Given the description of an element on the screen output the (x, y) to click on. 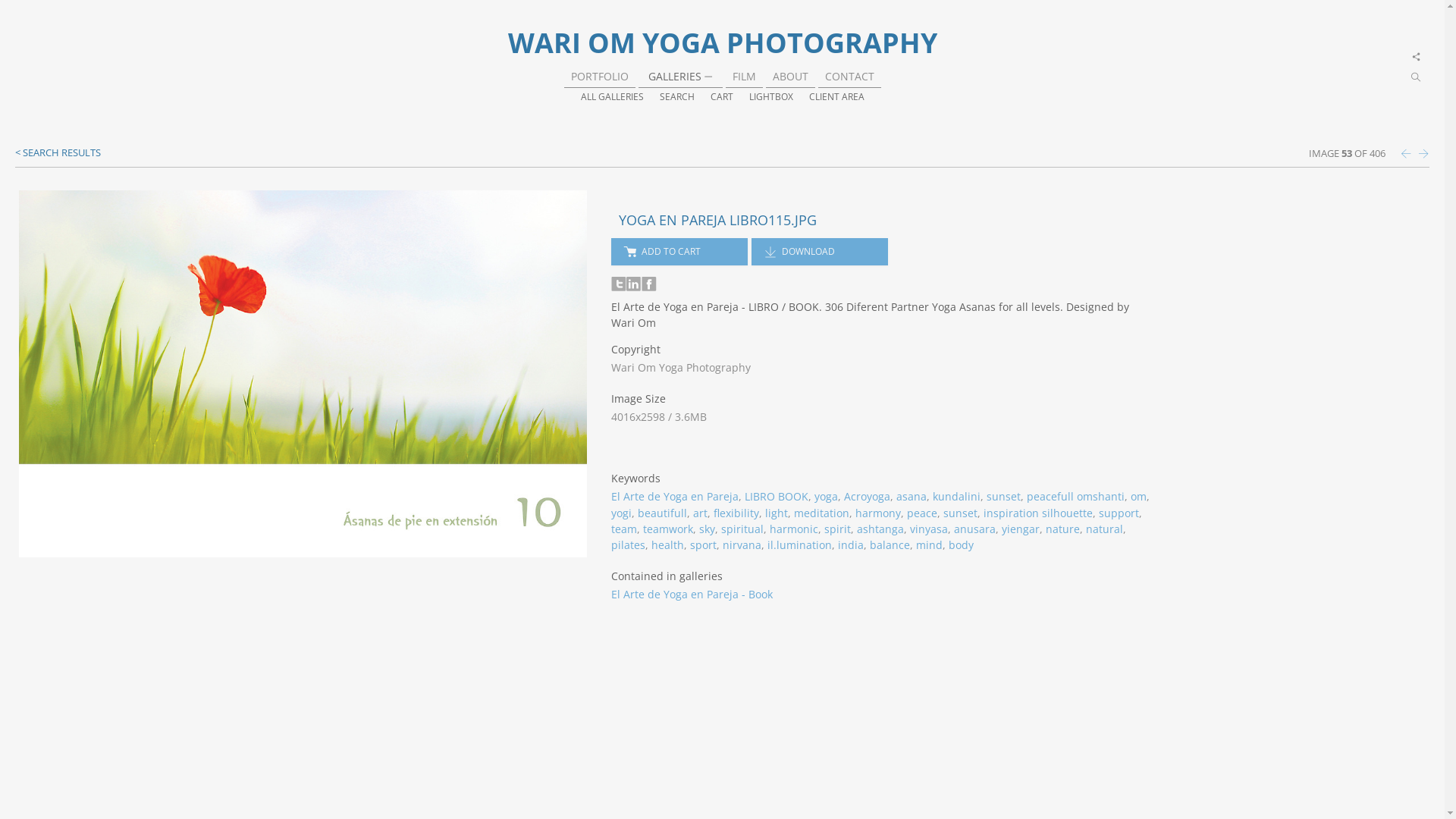
light Element type: text (776, 512)
health Element type: text (667, 544)
pilates Element type: text (628, 544)
beautifull Element type: text (662, 512)
ALL GALLERIES Element type: text (611, 96)
vinyasa Element type: text (928, 528)
El Arte de Yoga en Pareja Element type: text (674, 496)
om Element type: text (1138, 496)
SEARCH RESULTS Element type: text (57, 152)
yiengar Element type: text (1020, 528)
peace Element type: text (921, 512)
sky Element type: text (707, 528)
spirit Element type: text (837, 528)
support Element type: text (1118, 512)
ABOUT Element type: text (789, 76)
team Element type: text (624, 528)
balance Element type: text (889, 544)
CLIENT AREA Element type: text (835, 96)
DOWNLOAD Element type: text (819, 251)
natural Element type: text (1104, 528)
FILM Element type: text (744, 76)
body Element type: text (960, 544)
WARI OM YOGA PHOTOGRAPHY Element type: text (722, 42)
il.lumination Element type: text (799, 544)
yoga Element type: text (825, 496)
CONTACT Element type: text (849, 76)
spiritual Element type: text (742, 528)
PORTFOLIO Element type: text (598, 76)
harmonic Element type: text (793, 528)
x Element type: text (1416, 57)
mind Element type: text (929, 544)
yogi Element type: text (621, 512)
harmony Element type: text (877, 512)
anusara Element type: text (974, 528)
india Element type: text (850, 544)
asana Element type: text (911, 496)
El Arte de Yoga en Pareja - Book Element type: text (691, 593)
LIGHTBOX Element type: text (771, 96)
teamwork Element type: text (668, 528)
CART Element type: text (720, 96)
sunset Element type: text (1003, 496)
ashtanga Element type: text (879, 528)
kundalini Element type: text (956, 496)
SEARCH Element type: text (676, 96)
ADD TO CART Element type: text (679, 251)
nature Element type: text (1062, 528)
meditation Element type: text (821, 512)
Acroyoga Element type: text (867, 496)
sunset Element type: text (960, 512)
flexibility Element type: text (736, 512)
sport Element type: text (703, 544)
inspiration silhouette Element type: text (1037, 512)
nirvana Element type: text (741, 544)
peacefull omshanti Element type: text (1075, 496)
LIBRO BOOK Element type: text (776, 496)
art Element type: text (700, 512)
